Given the description of an element on the screen output the (x, y) to click on. 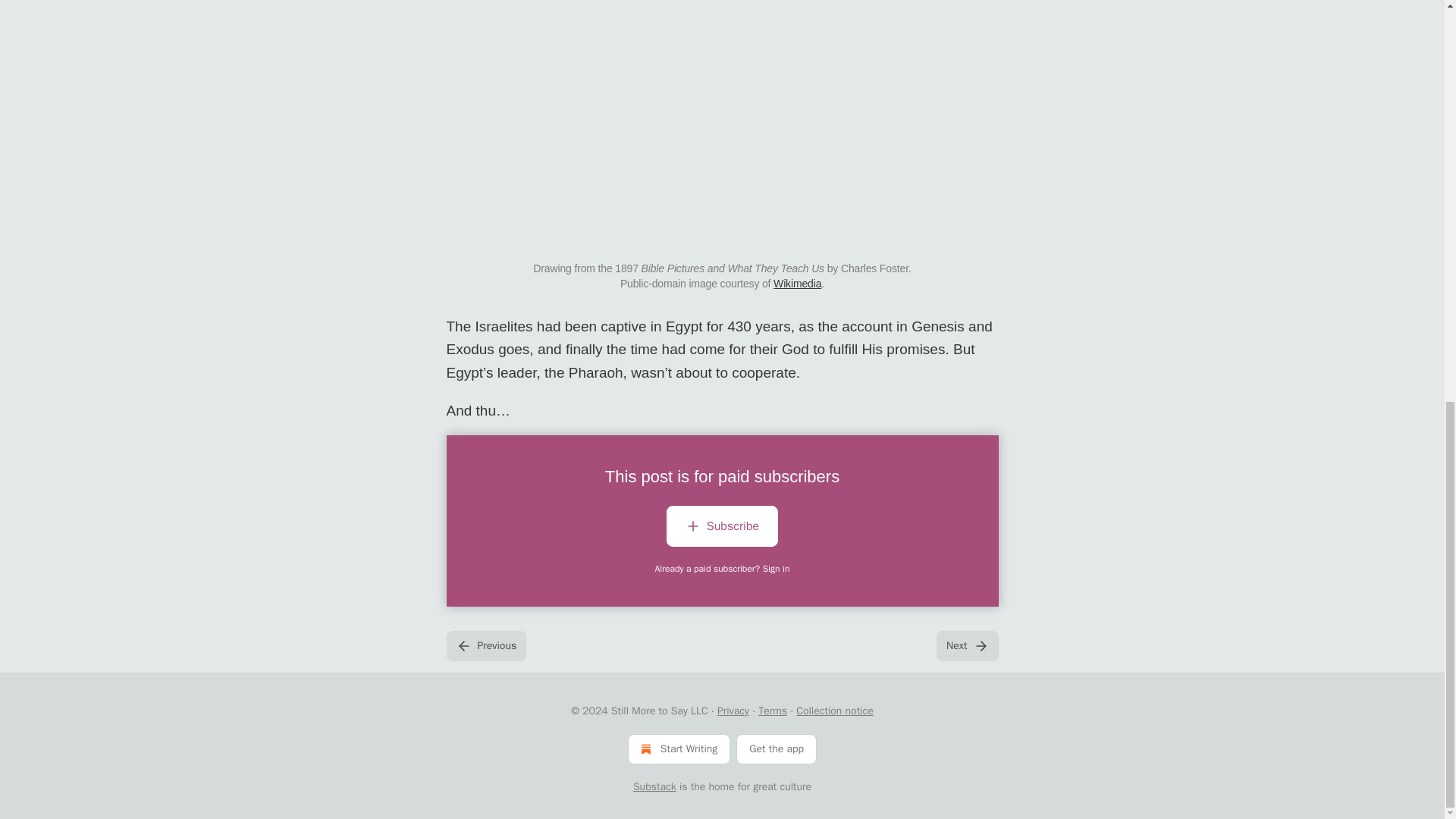
Subscribe (721, 529)
Already a paid subscriber? Sign in (722, 568)
Get the app (776, 748)
Substack (655, 786)
Previous (485, 645)
Next (966, 645)
Terms (772, 710)
Wikimedia (797, 283)
Subscribe (721, 526)
Collection notice (834, 710)
Start Writing (678, 748)
Privacy (733, 710)
